Given the description of an element on the screen output the (x, y) to click on. 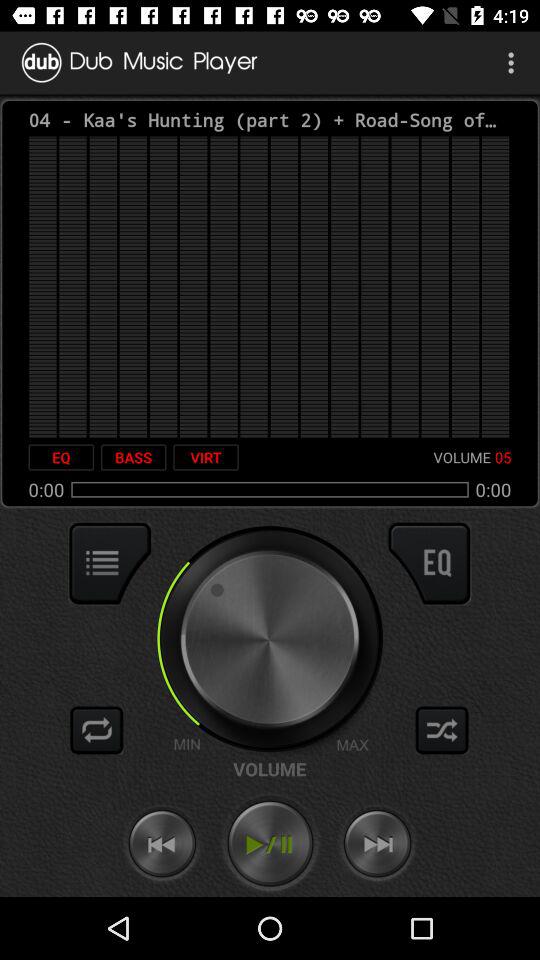
choose icon to the left of the volume icon (205, 457)
